Given the description of an element on the screen output the (x, y) to click on. 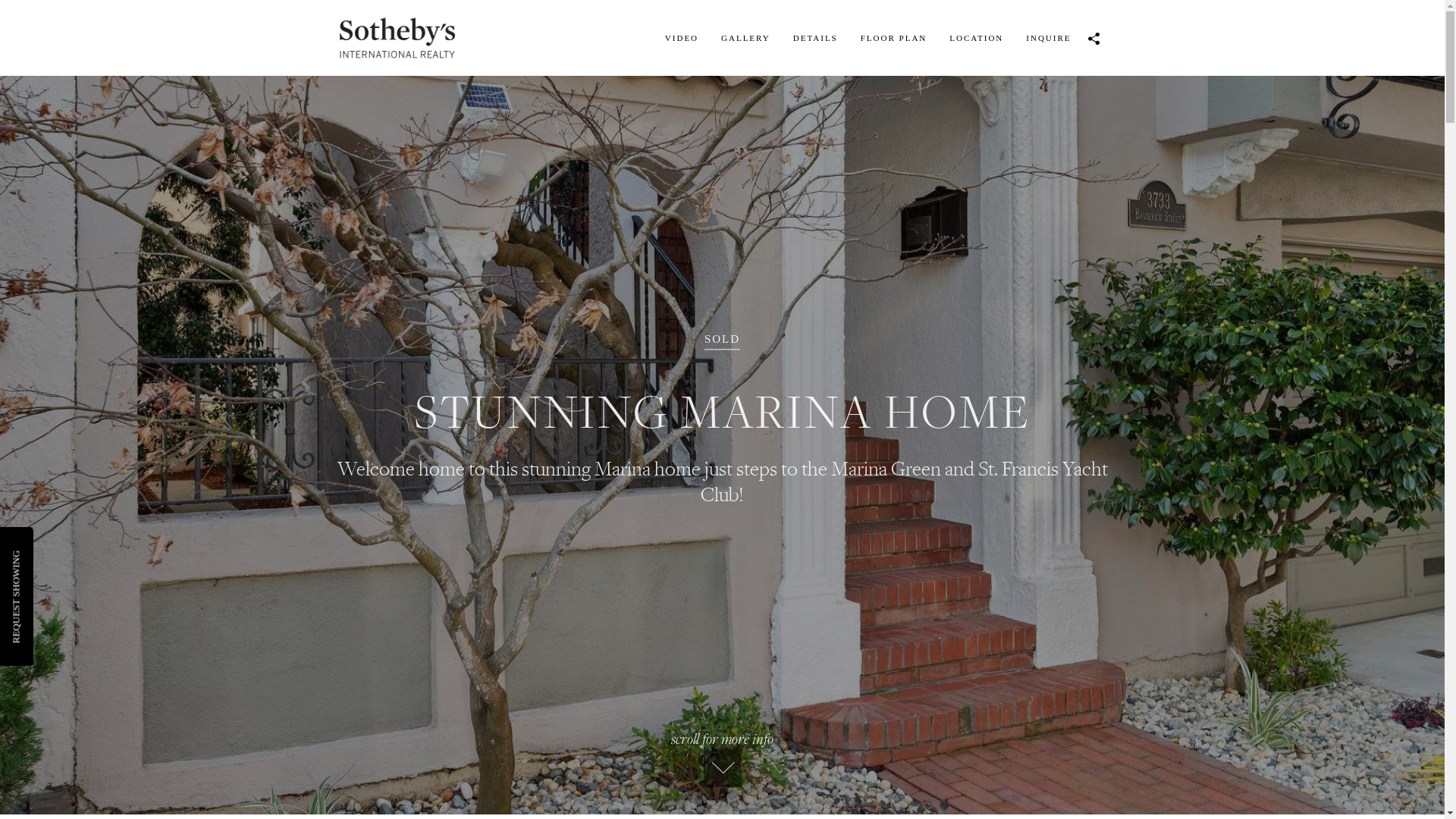
VIDEO Element type: text (681, 37)
GALLERY Element type: text (745, 37)
INQUIRE Element type: text (1048, 37)
LOCATION Element type: text (976, 37)
DETAILS Element type: text (815, 37)
scroll for more info Element type: text (721, 757)
REQUEST SHOWING Element type: text (56, 555)
FLOOR PLAN Element type: text (893, 37)
